Given the description of an element on the screen output the (x, y) to click on. 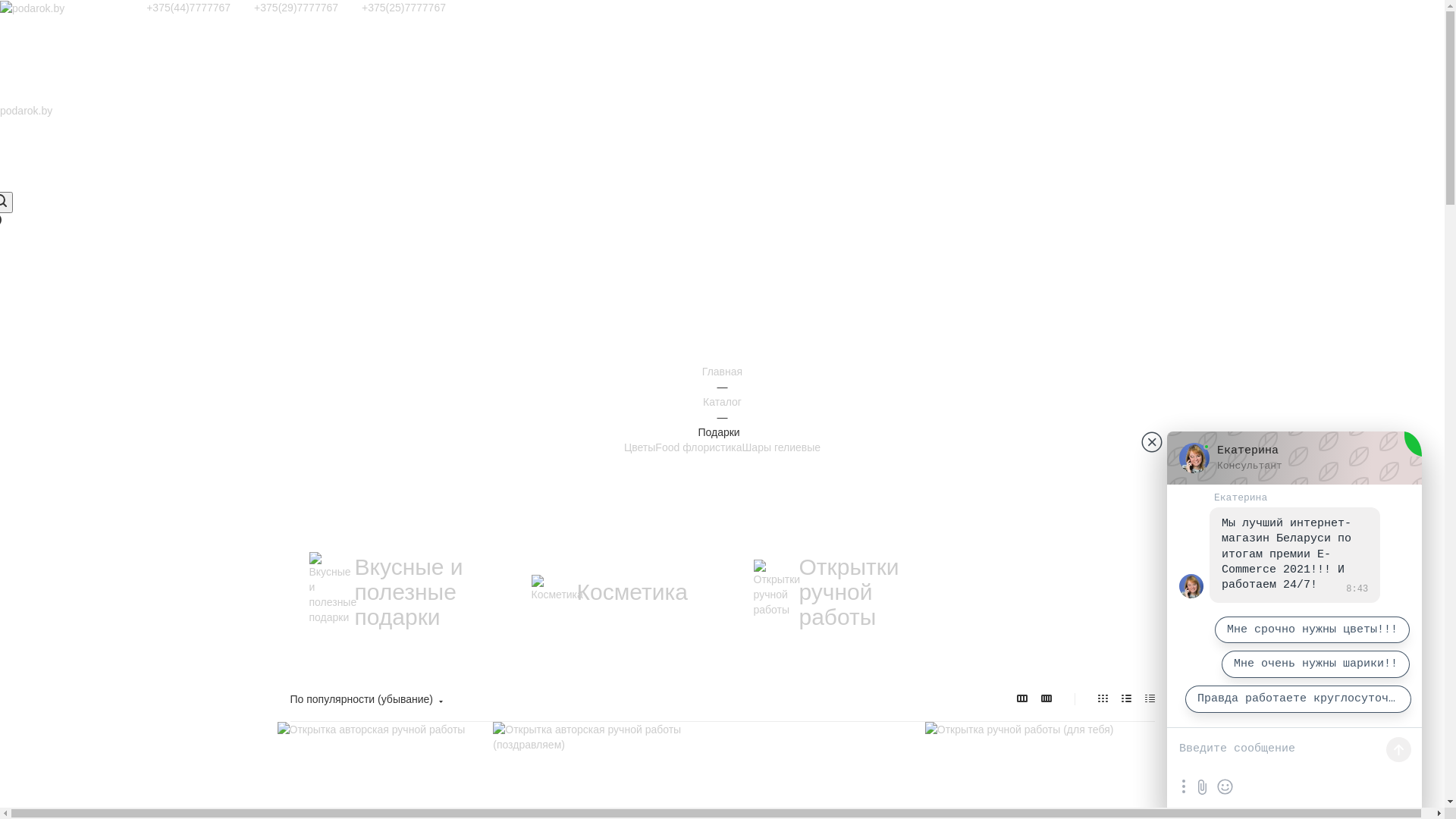
+375(29)7777767 Element type: text (296, 7)
podarok.by Element type: hover (32, 7)
+375(44)7777767 Element type: text (188, 7)
+375(25)7777767 Element type: text (403, 7)
